Given the description of an element on the screen output the (x, y) to click on. 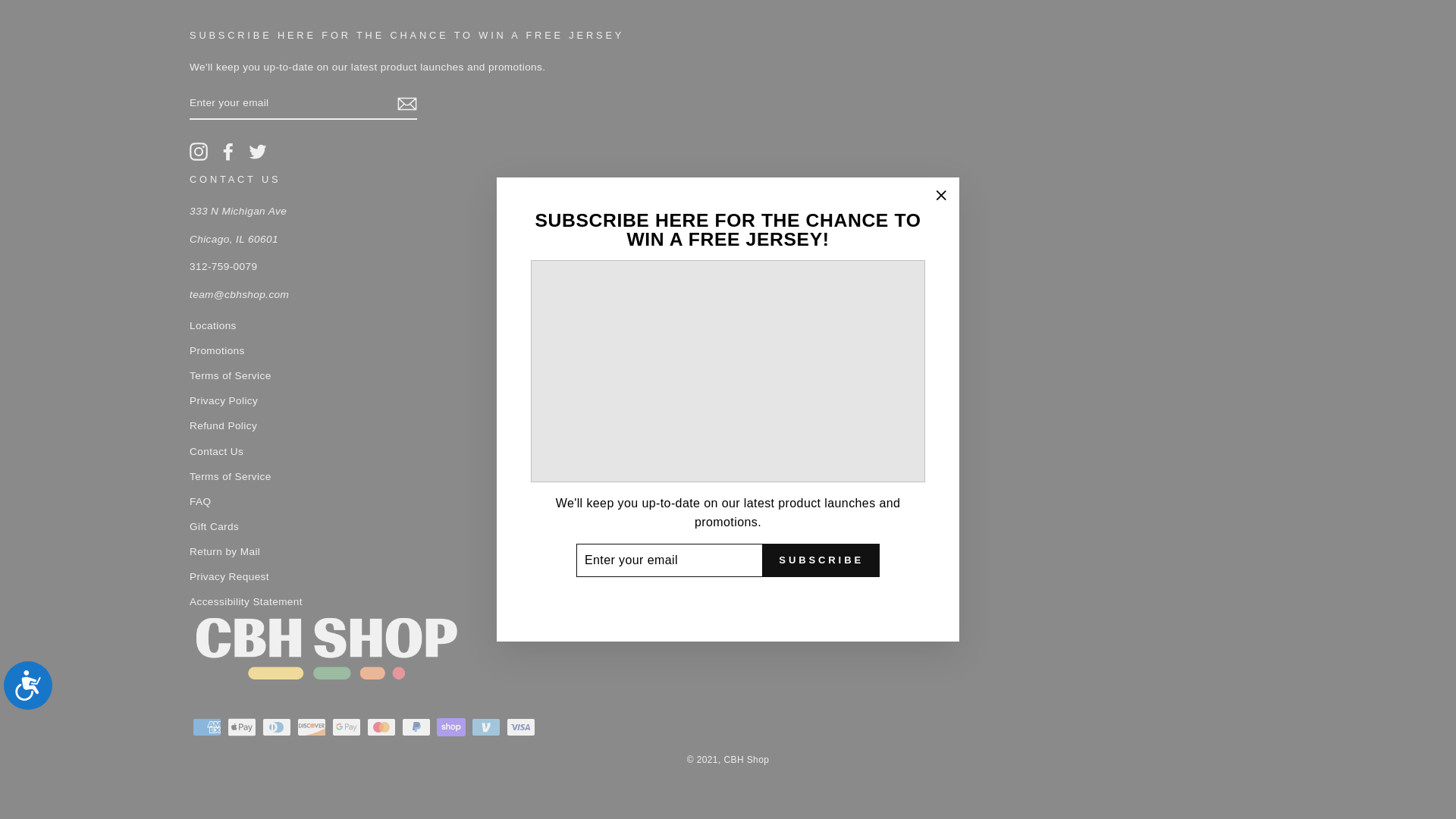
Google Pay (346, 727)
Venmo (485, 727)
American Express (206, 727)
Diners Club (276, 727)
Mastercard (381, 727)
Discover (311, 727)
Shop Pay (450, 727)
Apple Pay (241, 727)
Visa (520, 727)
PayPal (415, 727)
